Given the description of an element on the screen output the (x, y) to click on. 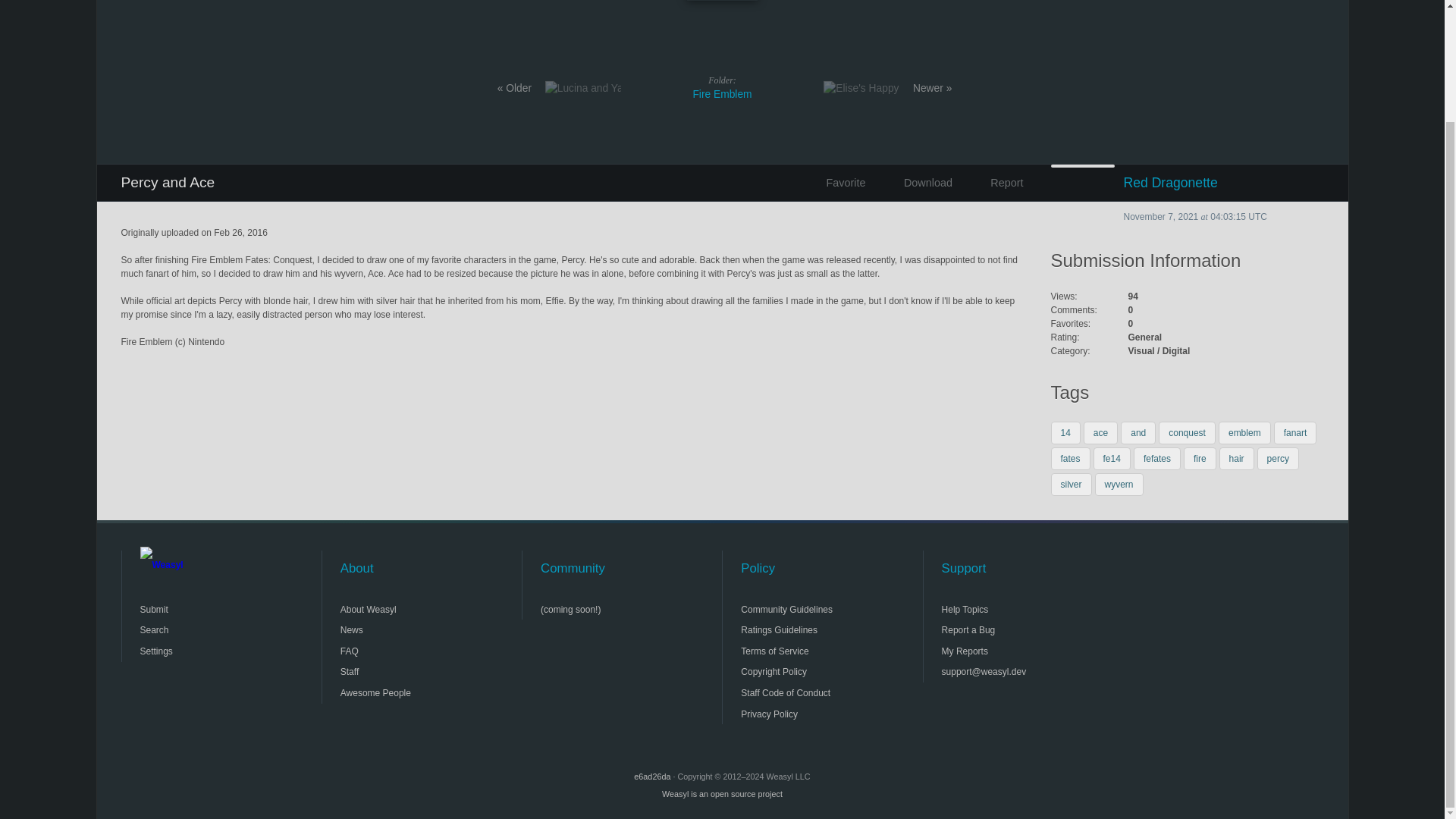
silver (1071, 484)
Favorite (841, 182)
percy (1277, 458)
14 (1065, 432)
wyvern (1118, 484)
fefates (1157, 458)
fire (1199, 458)
and (1138, 432)
fates (1070, 458)
ace (1100, 432)
